Given the description of an element on the screen output the (x, y) to click on. 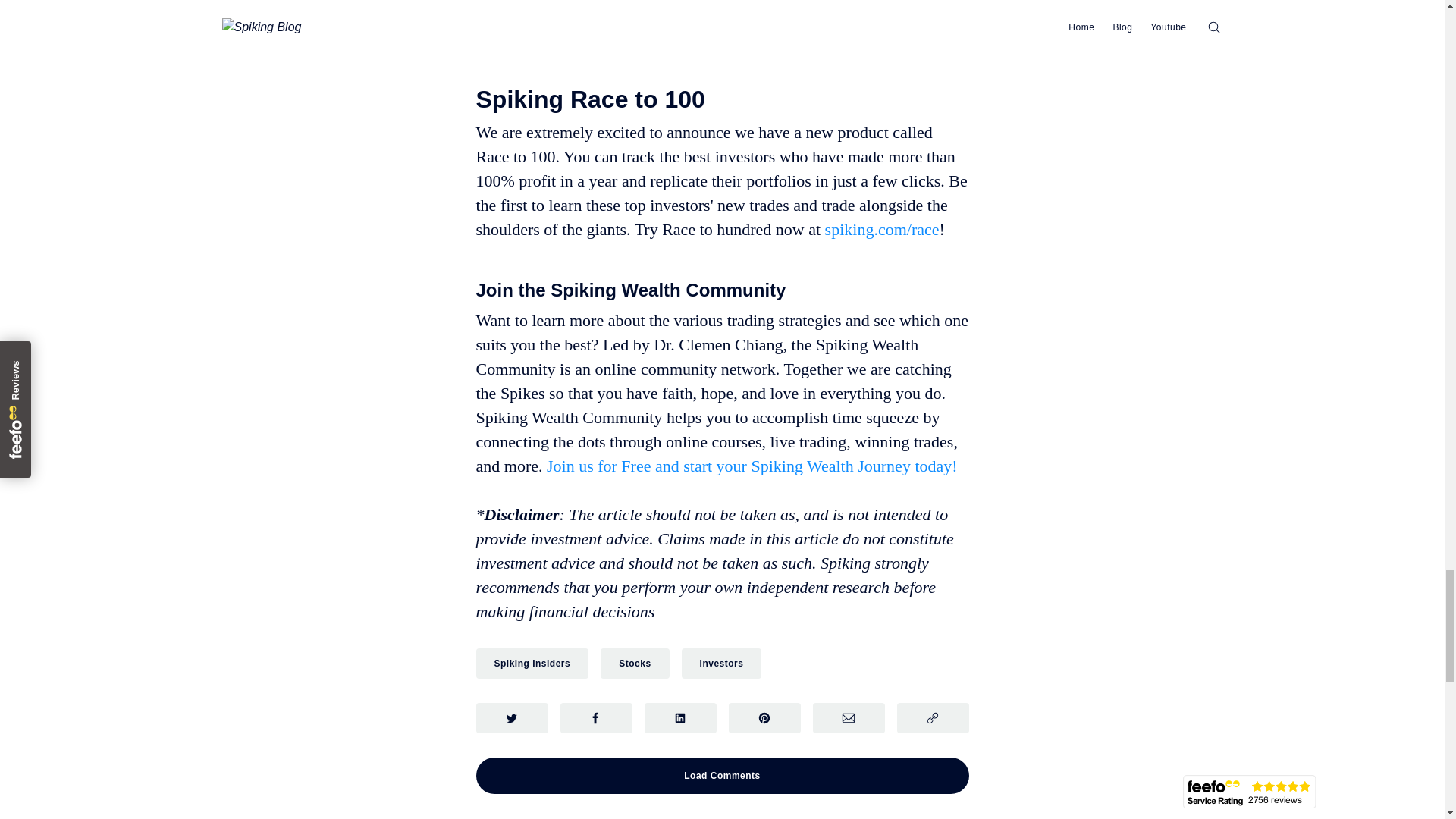
Share on LinkedIn (680, 716)
Share on Pinterest (763, 716)
Share on Twitter (512, 716)
Share on Facebook (595, 716)
Copy link (932, 716)
Share via Email (848, 716)
